Given the description of an element on the screen output the (x, y) to click on. 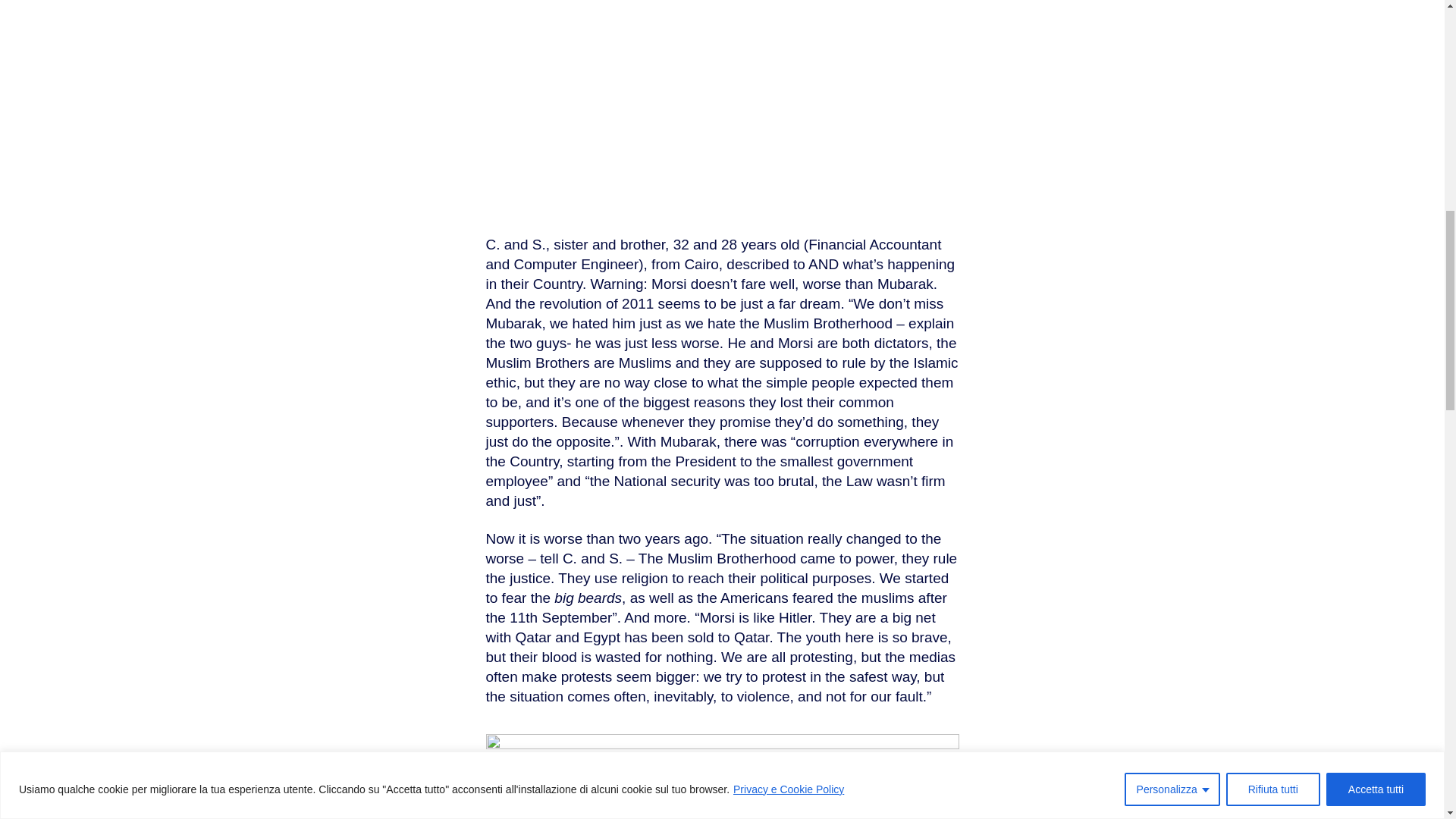
Egitto-scontri (721, 104)
